Given the description of an element on the screen output the (x, y) to click on. 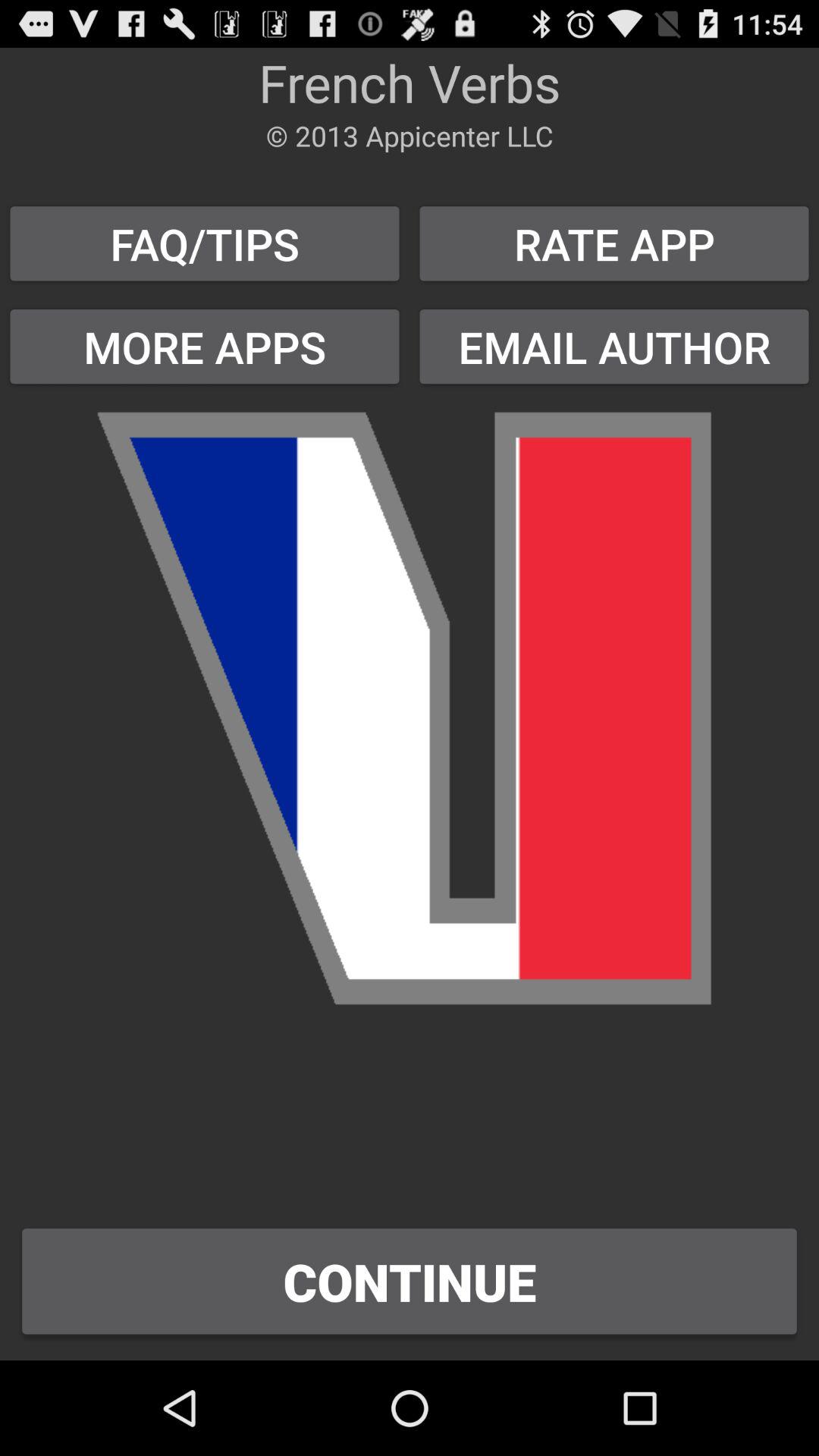
click button to the right of the faq/tips button (613, 346)
